Given the description of an element on the screen output the (x, y) to click on. 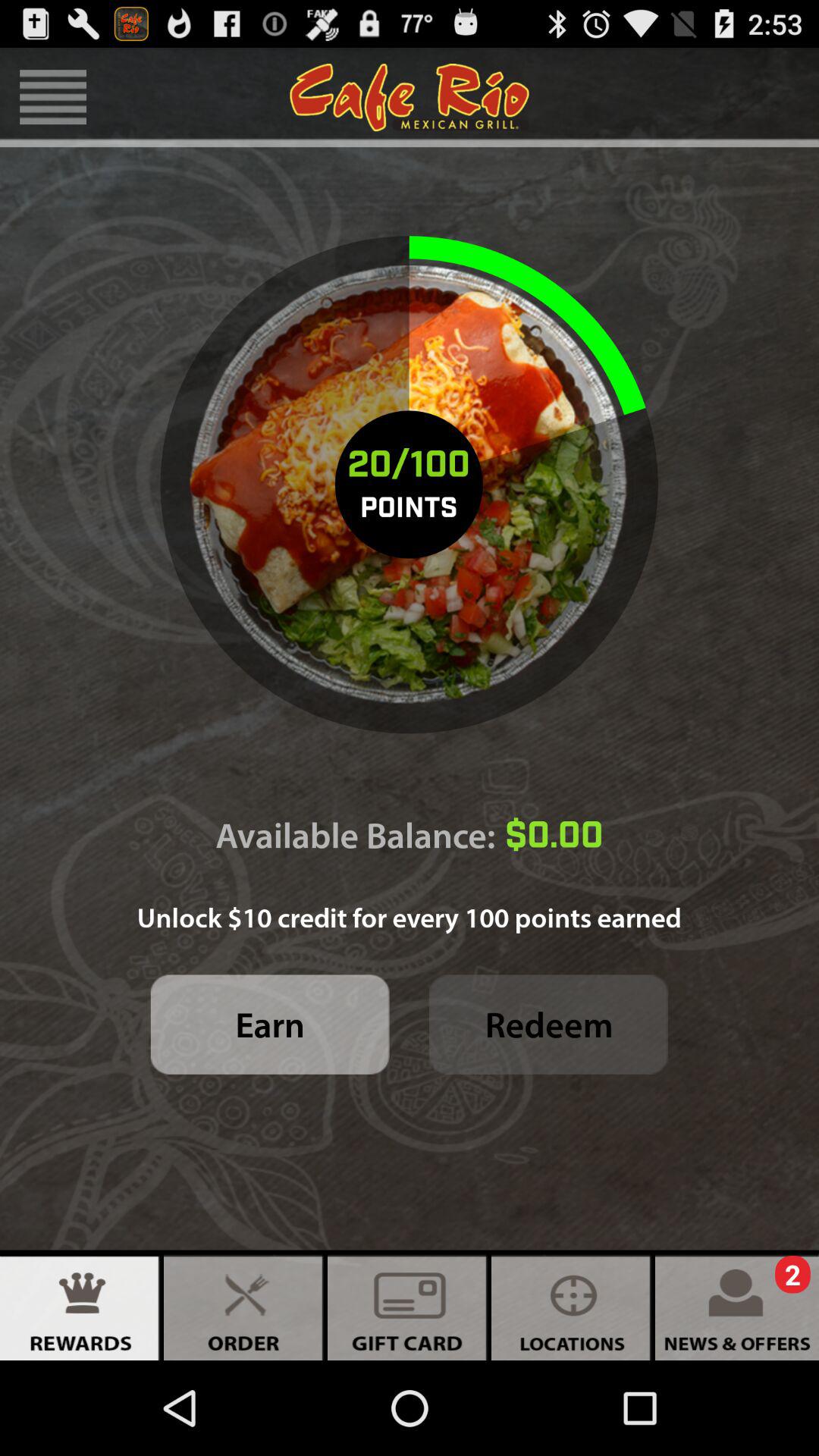
select the icon to the right of the earn (548, 1024)
